Given the description of an element on the screen output the (x, y) to click on. 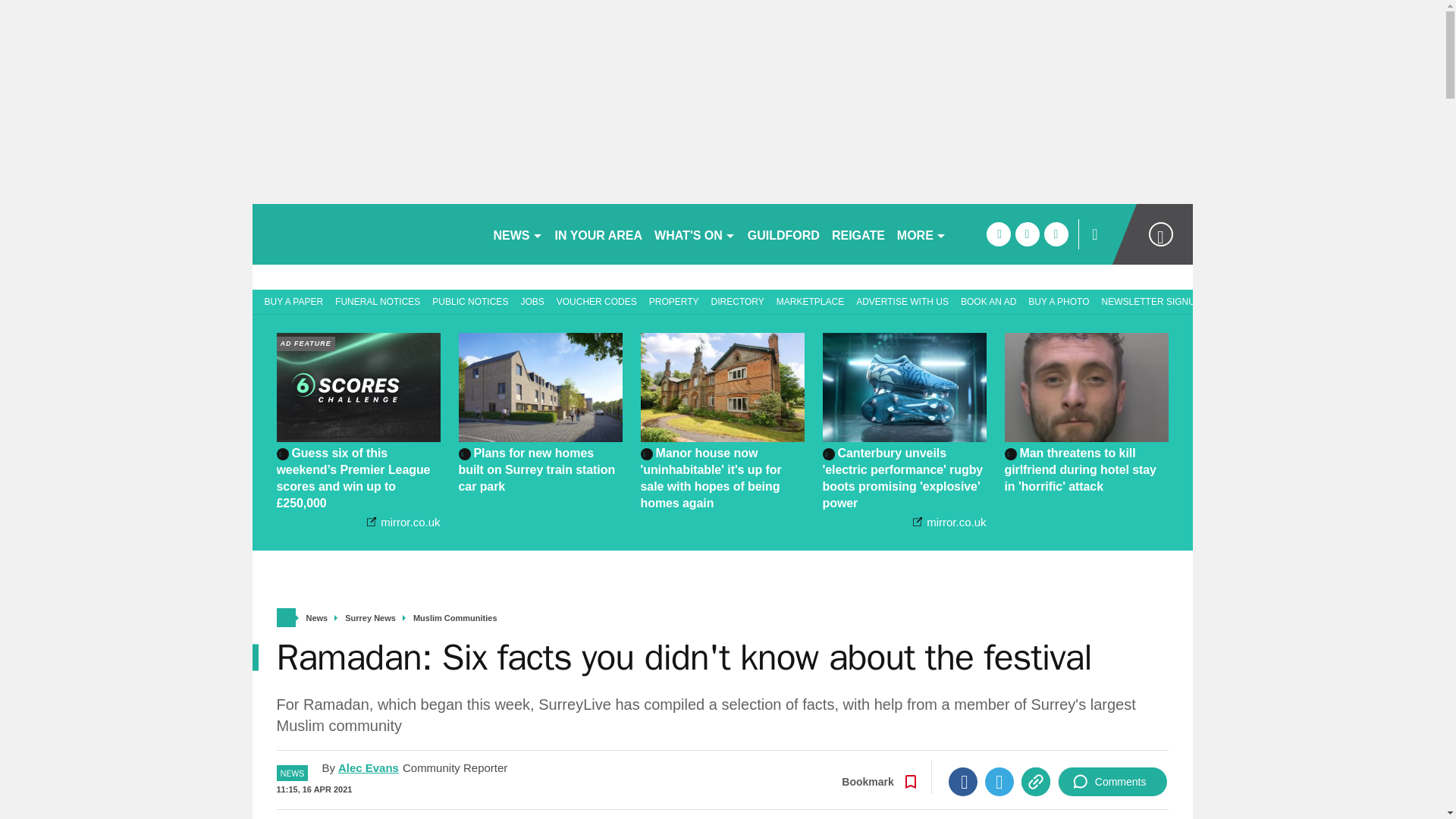
MORE (921, 233)
Comments (1112, 781)
instagram (1055, 233)
facebook (997, 233)
WHAT'S ON (694, 233)
Twitter (999, 781)
REIGATE (858, 233)
FUNERAL NOTICES (377, 300)
VOUCHER CODES (596, 300)
twitter (1026, 233)
